Given the description of an element on the screen output the (x, y) to click on. 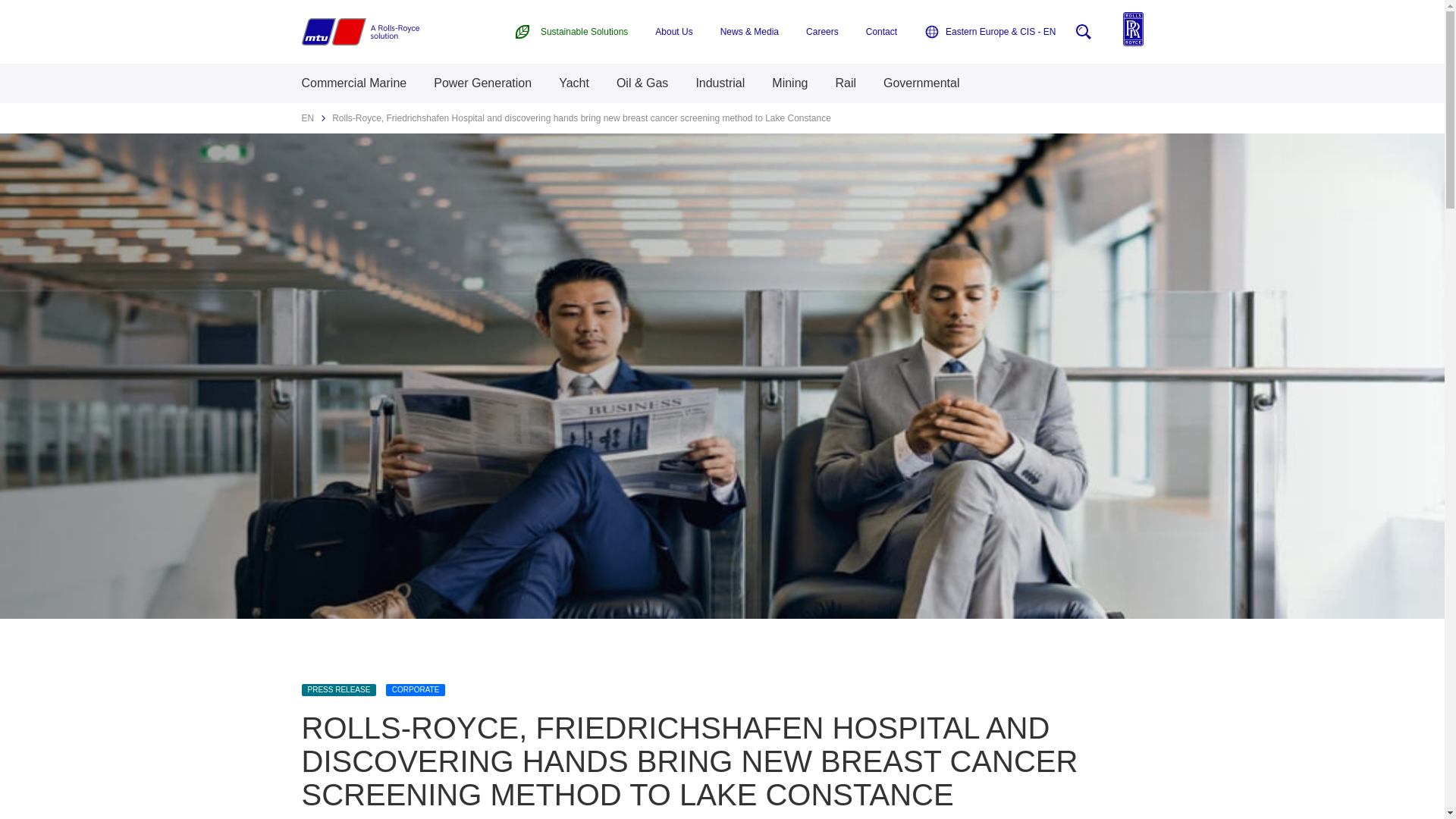
Commercial Marine (354, 83)
Home (360, 31)
